Given the description of an element on the screen output the (x, y) to click on. 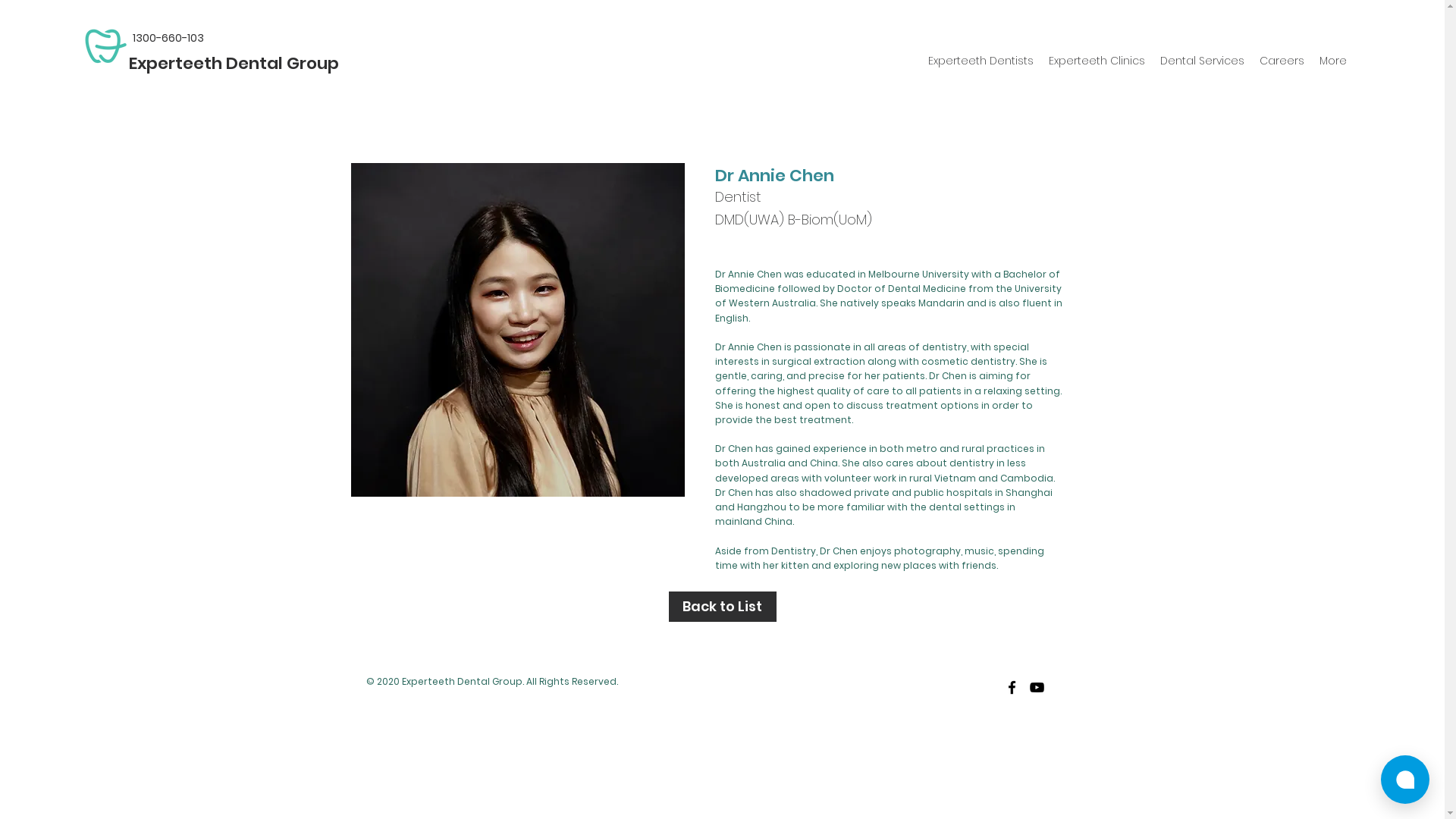
Ann.jpg Element type: hover (517, 329)
Back to List Element type: text (722, 606)
Experteeth Dental Group Element type: text (233, 63)
Careers Element type: text (1281, 60)
Open chat window Element type: hover (1404, 779)
Experteeth Clinics Element type: text (1096, 60)
1300-660-103 Element type: text (167, 37)
Experteeth Dentists Element type: text (980, 60)
Sydney Dentist Experteeth Dental Group Element type: hover (105, 45)
